Given the description of an element on the screen output the (x, y) to click on. 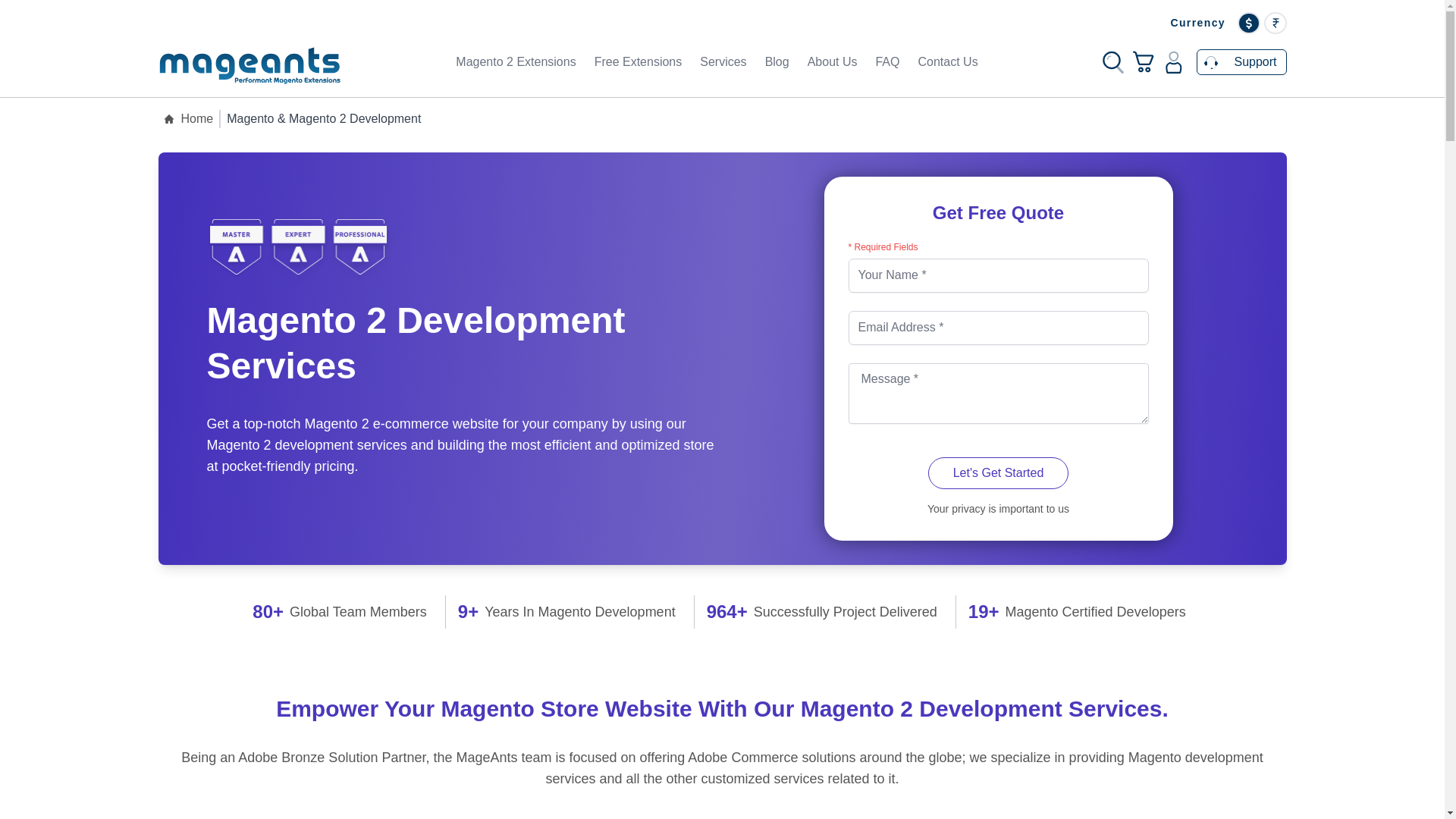
Mageants Magento2 Extensions (248, 62)
INR Currency (1274, 23)
USD Currency (1248, 23)
